Given the description of an element on the screen output the (x, y) to click on. 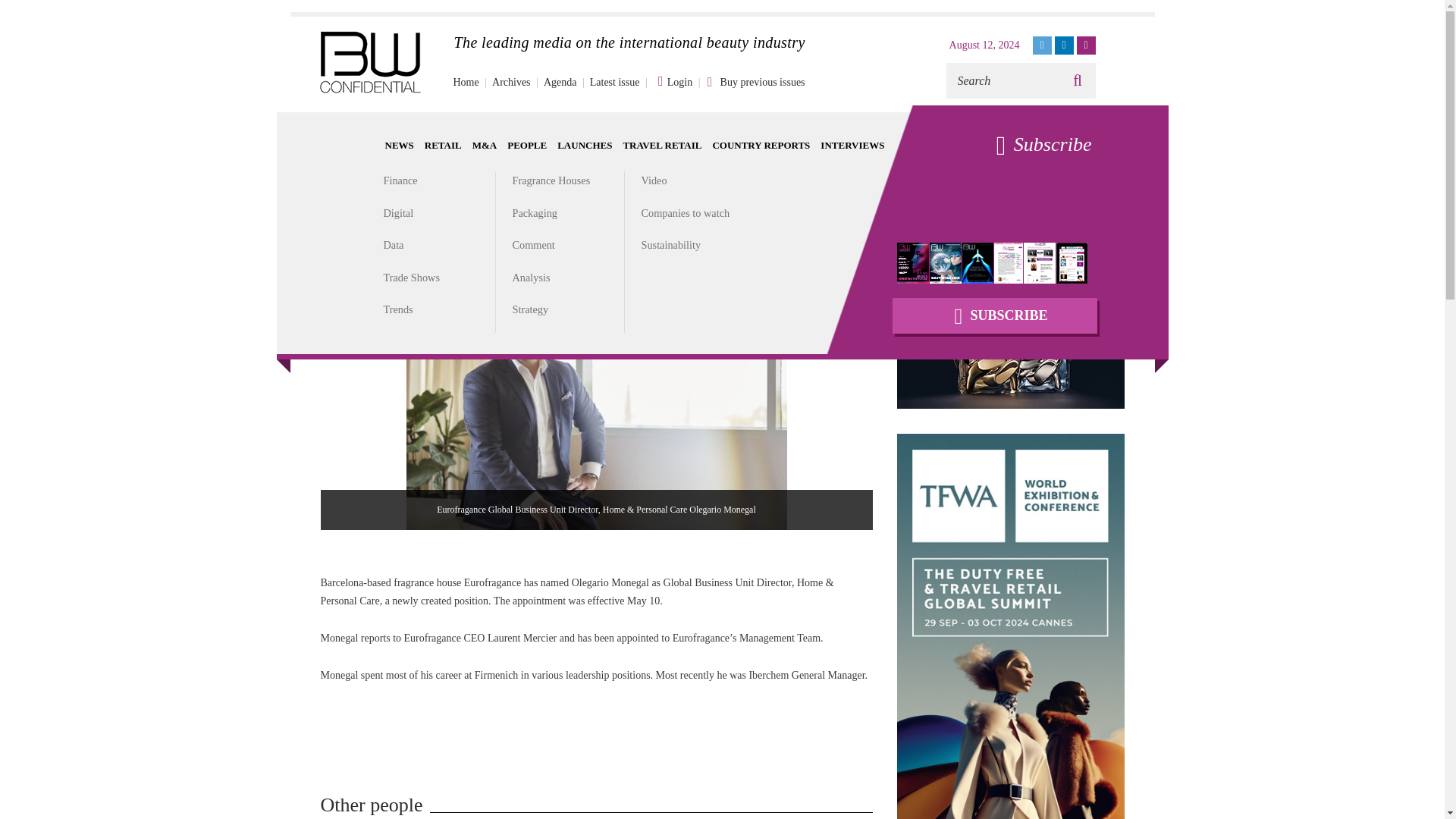
Finance (400, 180)
Video (654, 180)
TRAVEL RETAIL (662, 144)
INTERVIEWS (852, 144)
Fragrance Houses (551, 180)
INSTAGRAM (1086, 45)
Analysis (531, 277)
TWITTER (1041, 45)
Data (394, 244)
COUNTRY REPORTS (760, 144)
